Given the description of an element on the screen output the (x, y) to click on. 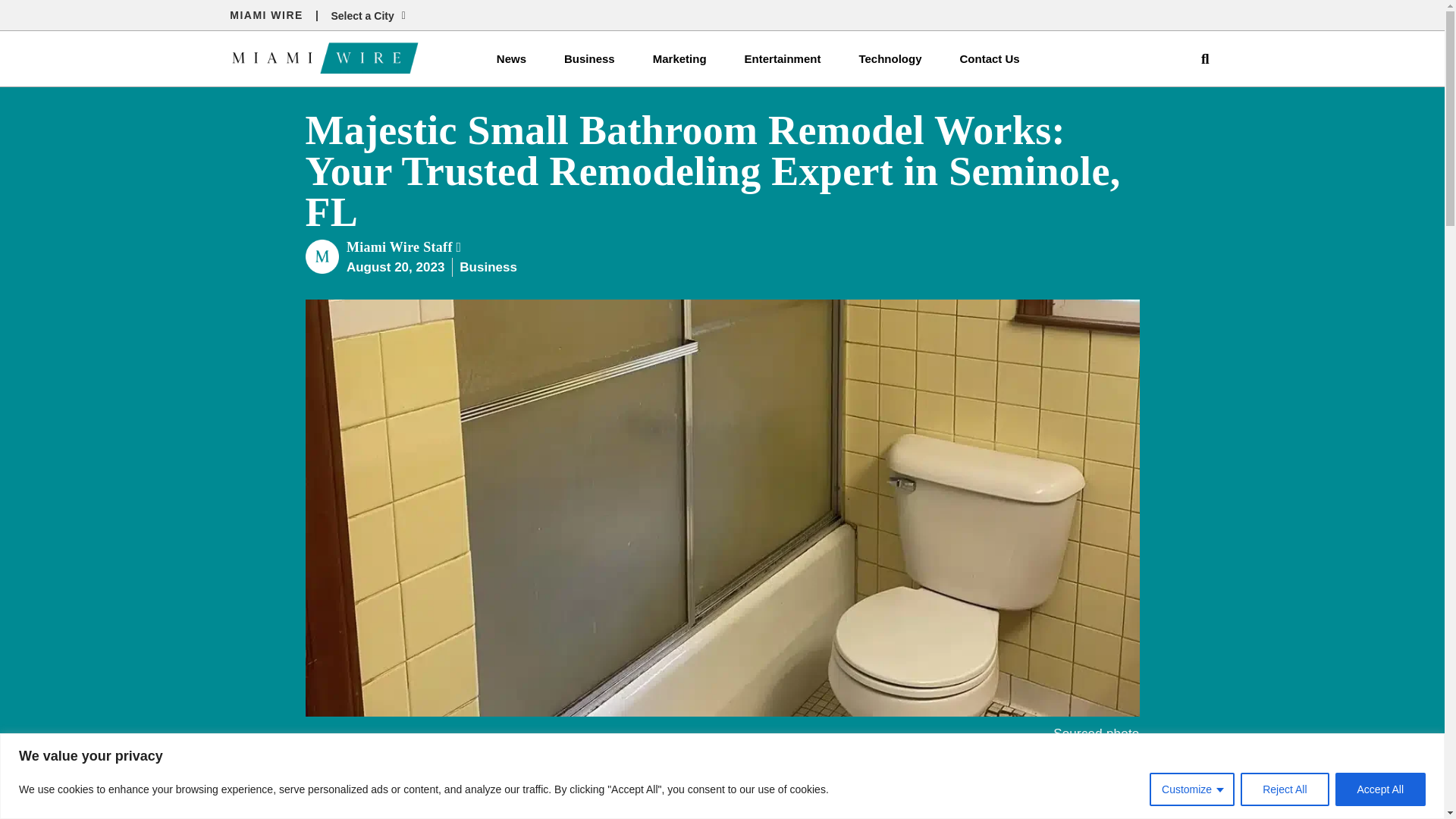
Accept All (1380, 788)
Reject All (1283, 788)
Select a City (367, 16)
Entertainment (782, 58)
News (510, 58)
Technology (890, 58)
Contact Us (989, 58)
Business (588, 58)
Marketing (679, 58)
Search (1198, 58)
Customize (1192, 788)
